Given the description of an element on the screen output the (x, y) to click on. 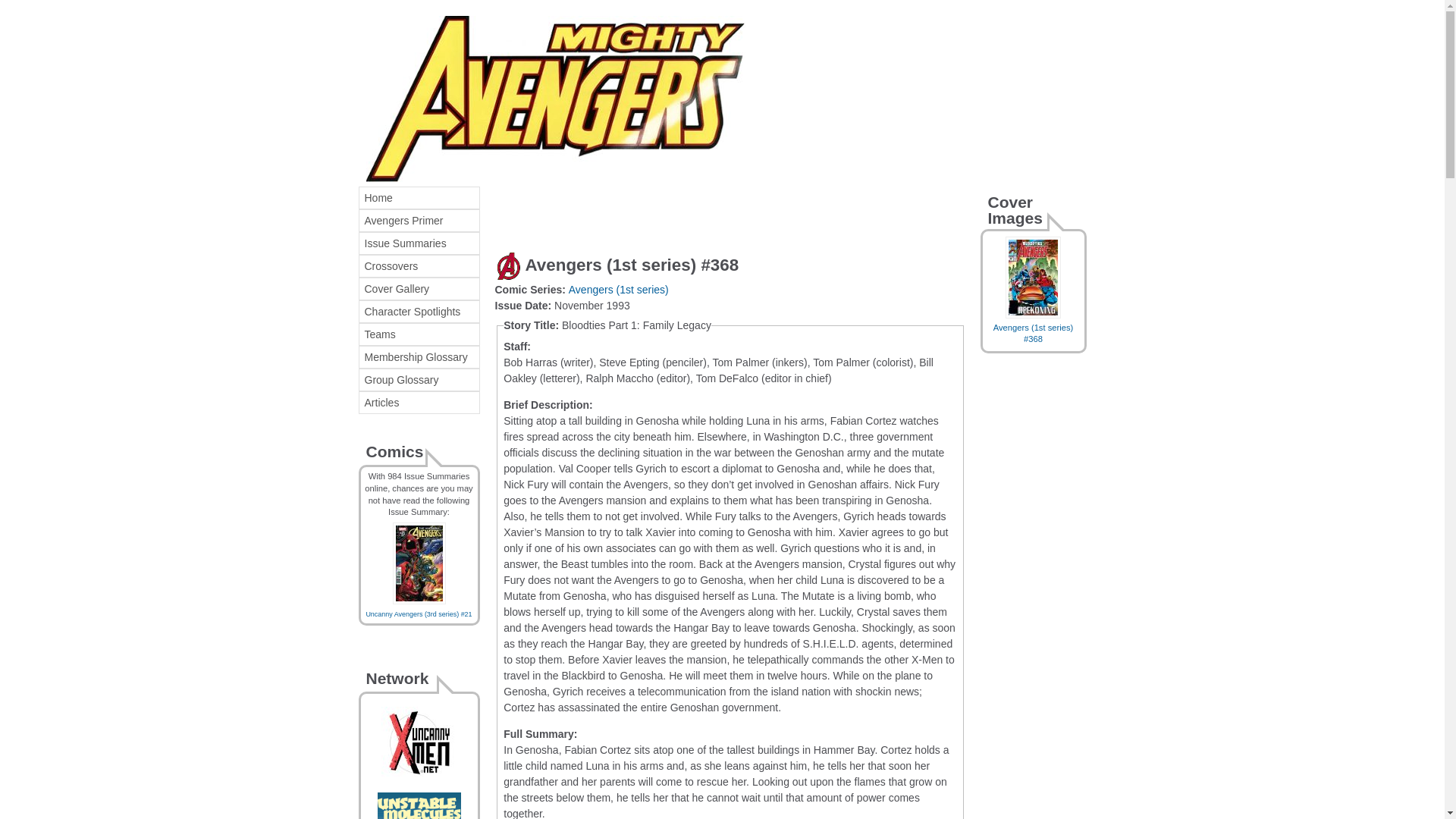
Cover Gallery (418, 288)
Group Glossary (418, 379)
Crossovers (418, 265)
Membership Glossary (418, 356)
Issue Summaries (418, 242)
Browse the Cover Gallery (418, 288)
Character Spotlights (418, 311)
Home (418, 197)
Check out our Forums! (419, 818)
Teams (418, 333)
Articles (418, 402)
Membership Glossary (418, 356)
Avengers Primer (418, 220)
Advertisement (671, 208)
